Given the description of an element on the screen output the (x, y) to click on. 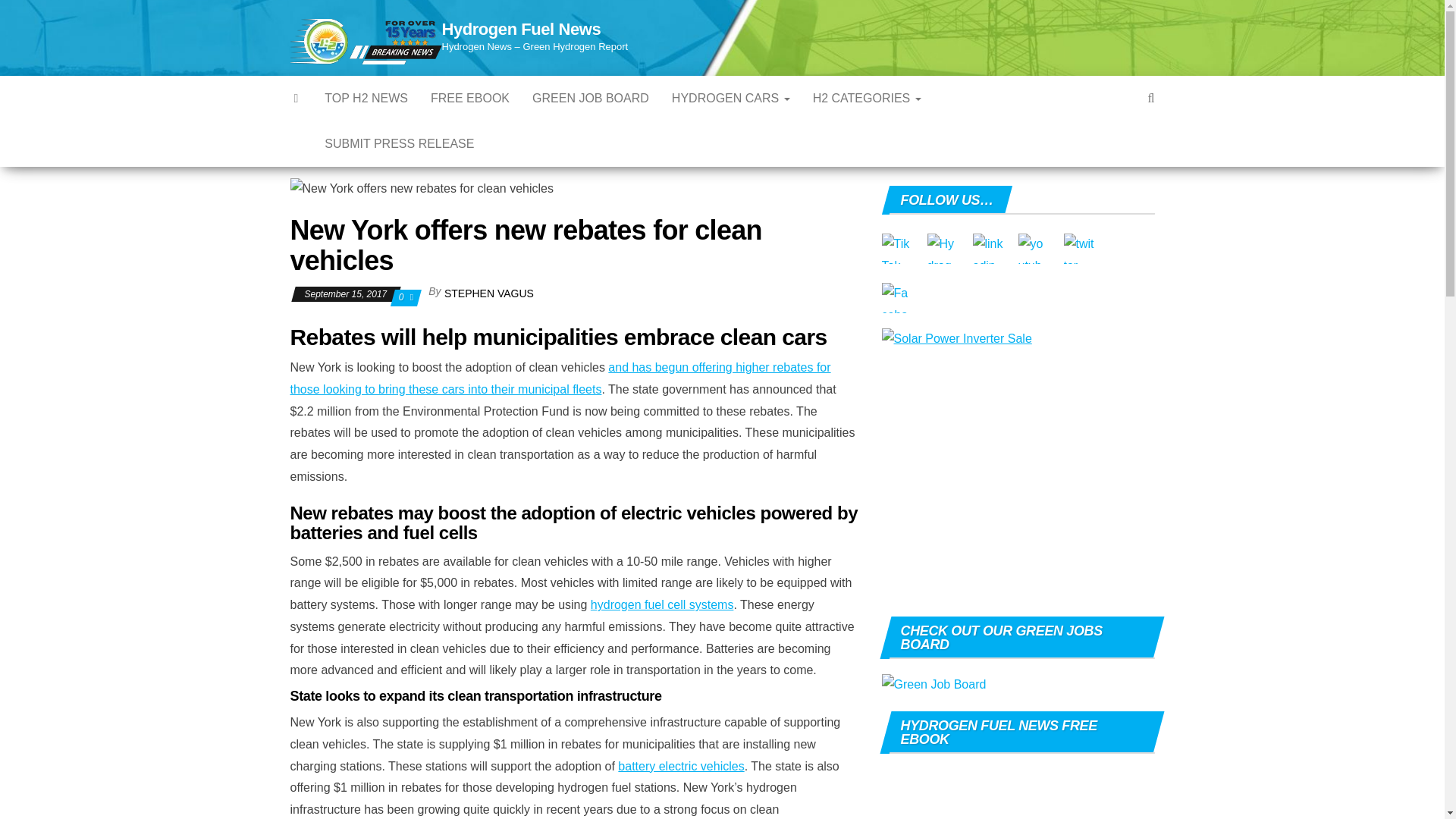
Hydrogen Cars (731, 98)
GREEN JOB BOARD (591, 98)
Top H2 News (366, 98)
HYDROGEN CARS (731, 98)
TOP H2 NEWS (366, 98)
Free ebook (470, 98)
H2 CATEGORIES (867, 98)
Hydrogen Fuel News (520, 28)
FREE EBOOK (470, 98)
Green Job Board (591, 98)
